Given the description of an element on the screen output the (x, y) to click on. 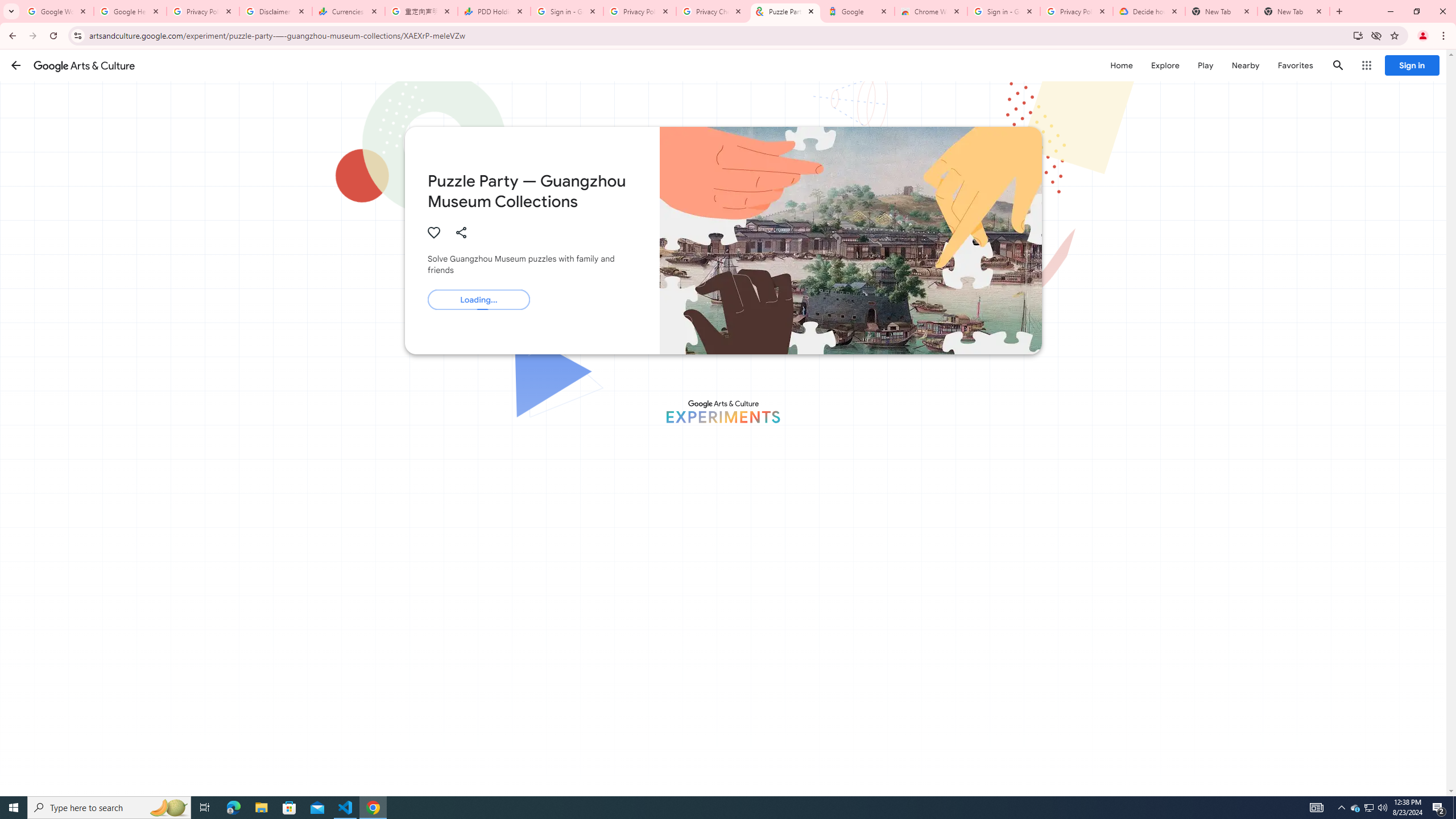
Loading... (477, 299)
Sign in - Google Accounts (1003, 11)
Nearby (1244, 65)
Google Workspace Admin Community (57, 11)
Google Arts & Culture (84, 65)
